Given the description of an element on the screen output the (x, y) to click on. 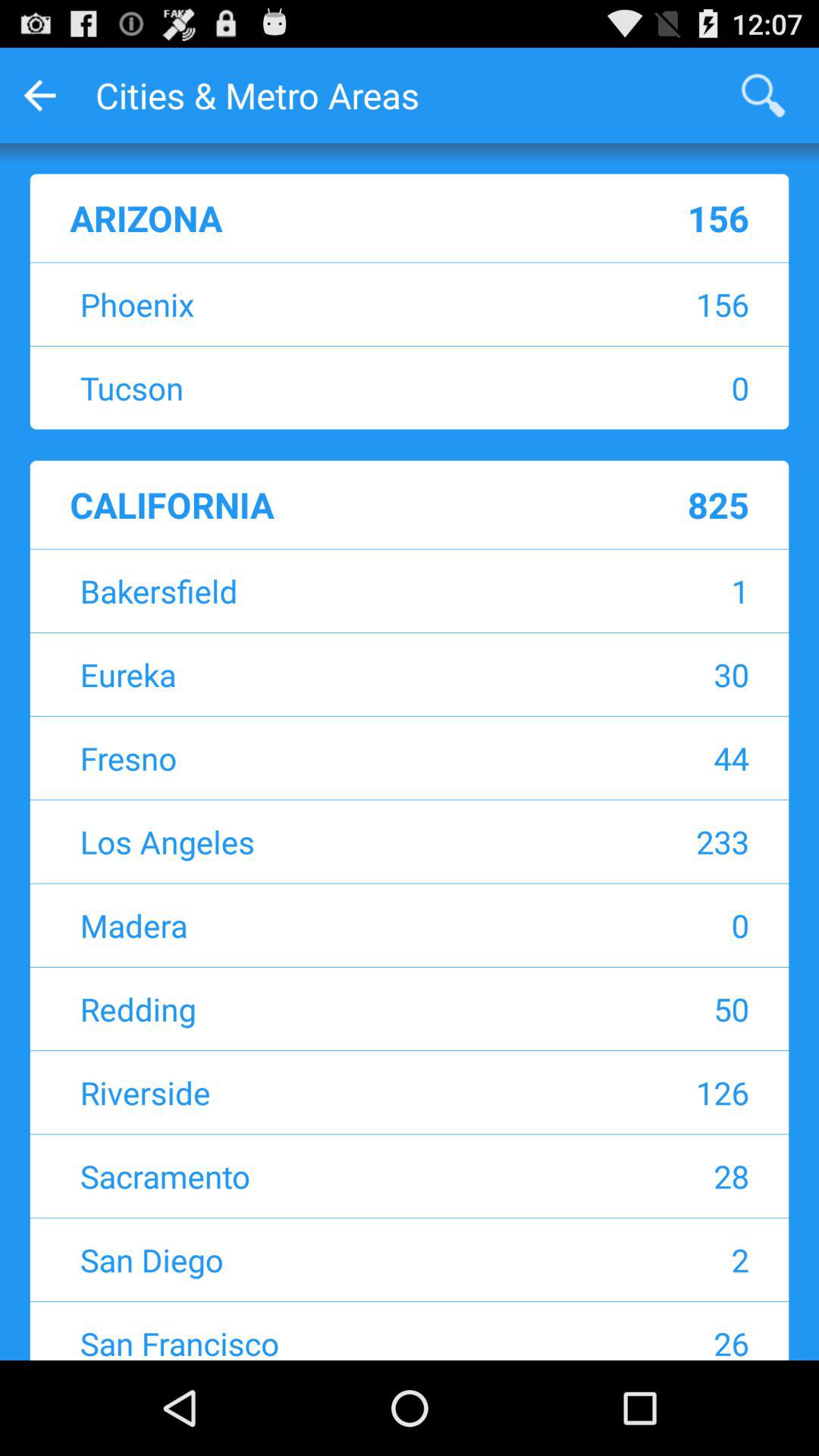
open bakersfield item (314, 590)
